Given the description of an element on the screen output the (x, y) to click on. 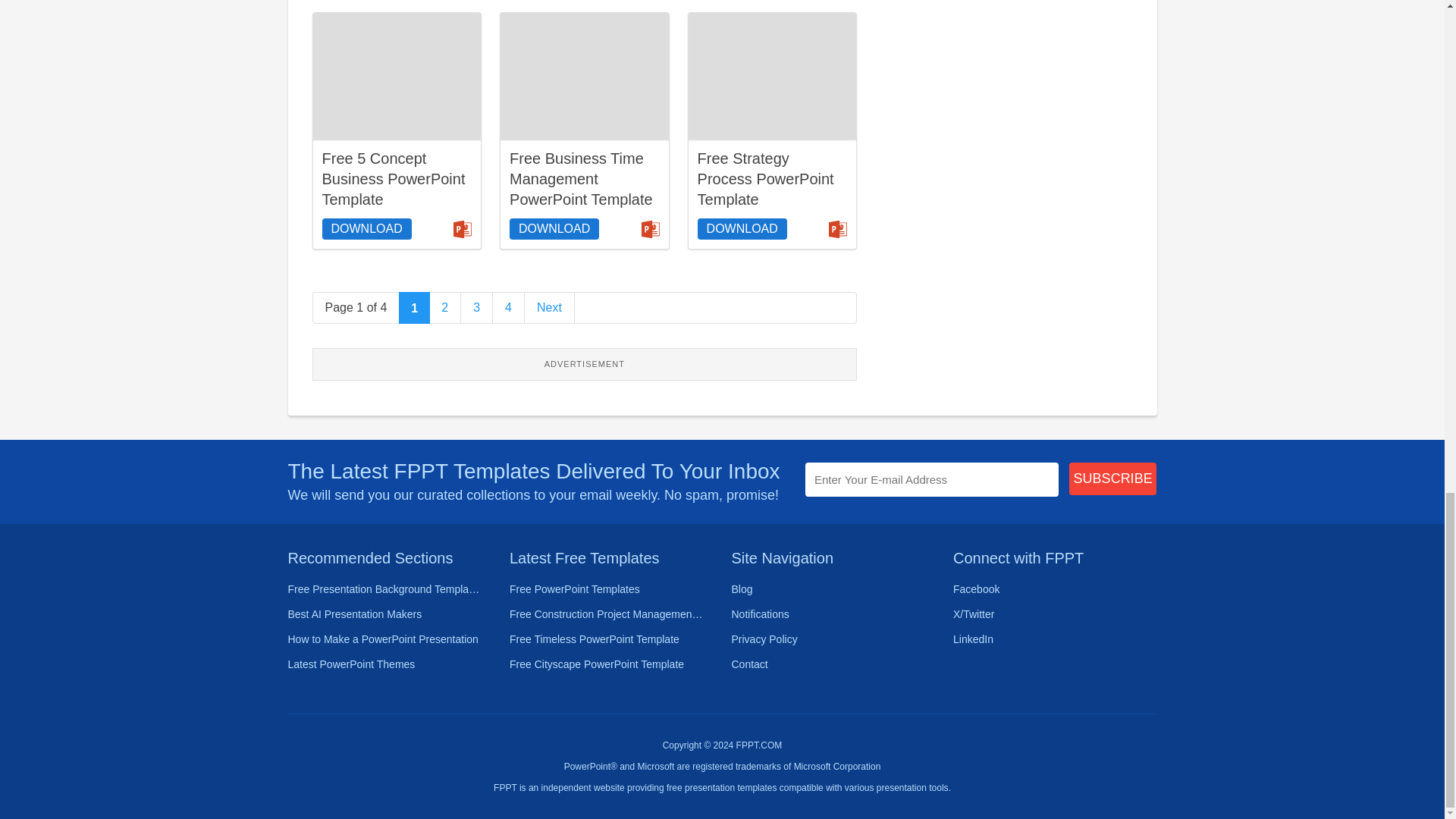
Page 4 (508, 307)
Page 3 (477, 307)
Page 2 (445, 307)
Subscribe (1112, 478)
Free 5 Concept Business PowerPoint Template (397, 75)
Free Business Time Management PowerPoint Template (584, 75)
Free Strategy Process PowerPoint Template (772, 75)
Free 5 Concept Business PowerPoint Template (392, 178)
DOWNLOAD (365, 228)
